Given the description of an element on the screen output the (x, y) to click on. 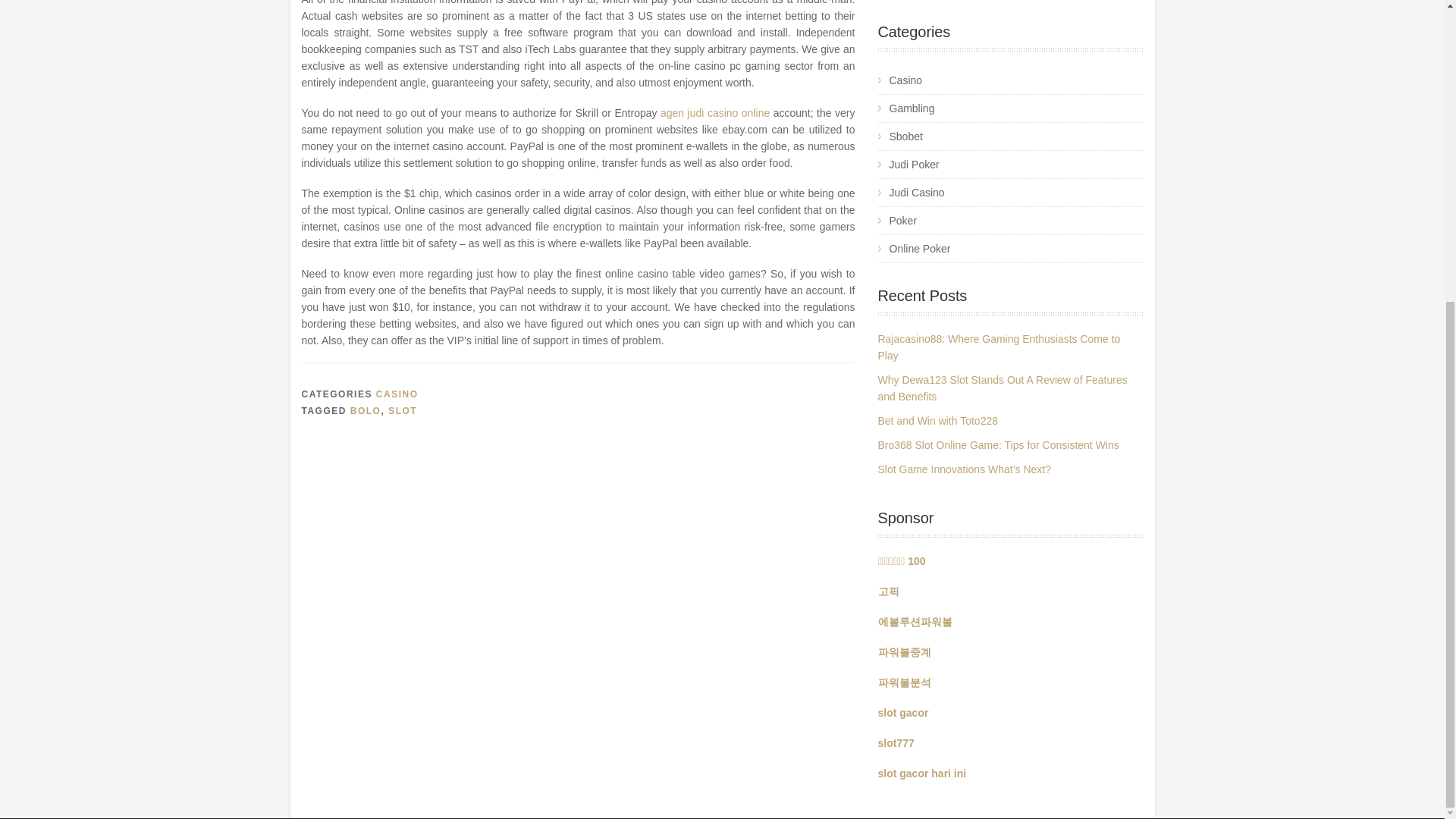
Judi Casino (1009, 193)
agen judi casino online (717, 112)
Bet and Win with Toto228 (937, 420)
slot gacor (902, 712)
Gambling (1009, 108)
Bro368 Slot Online Game: Tips for Consistent Wins (998, 444)
Judi Poker (1009, 164)
SLOT (402, 410)
CASINO (397, 394)
